Given the description of an element on the screen output the (x, y) to click on. 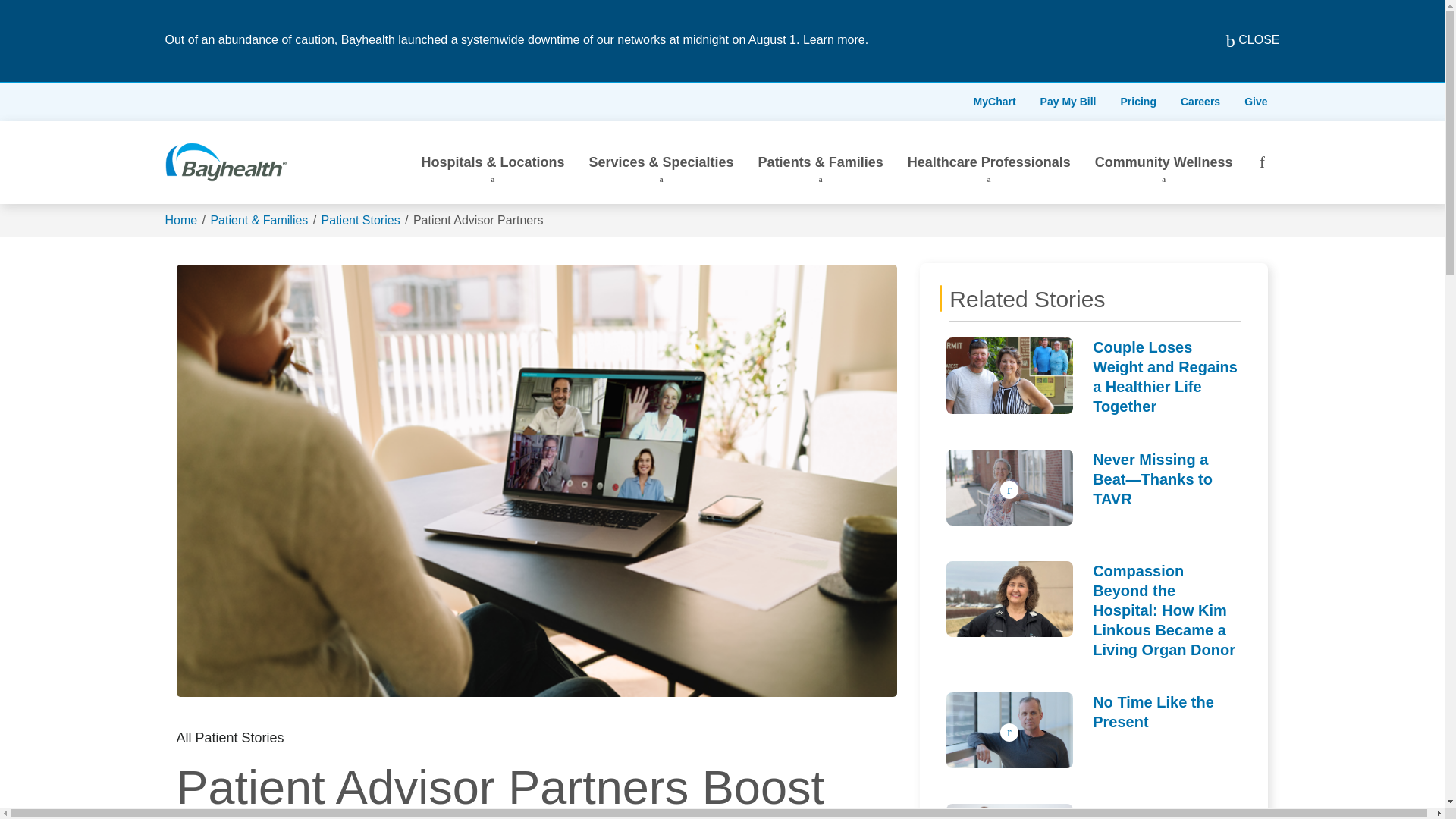
CLOSE (1240, 40)
Pay My Bill (1067, 101)
Pay My Bill (1067, 101)
Pricing (1138, 101)
Learn more. (835, 39)
MyChart (993, 101)
Bayhealth (225, 161)
Careers (1200, 101)
Give (1255, 101)
Pricing (1138, 101)
